Given the description of an element on the screen output the (x, y) to click on. 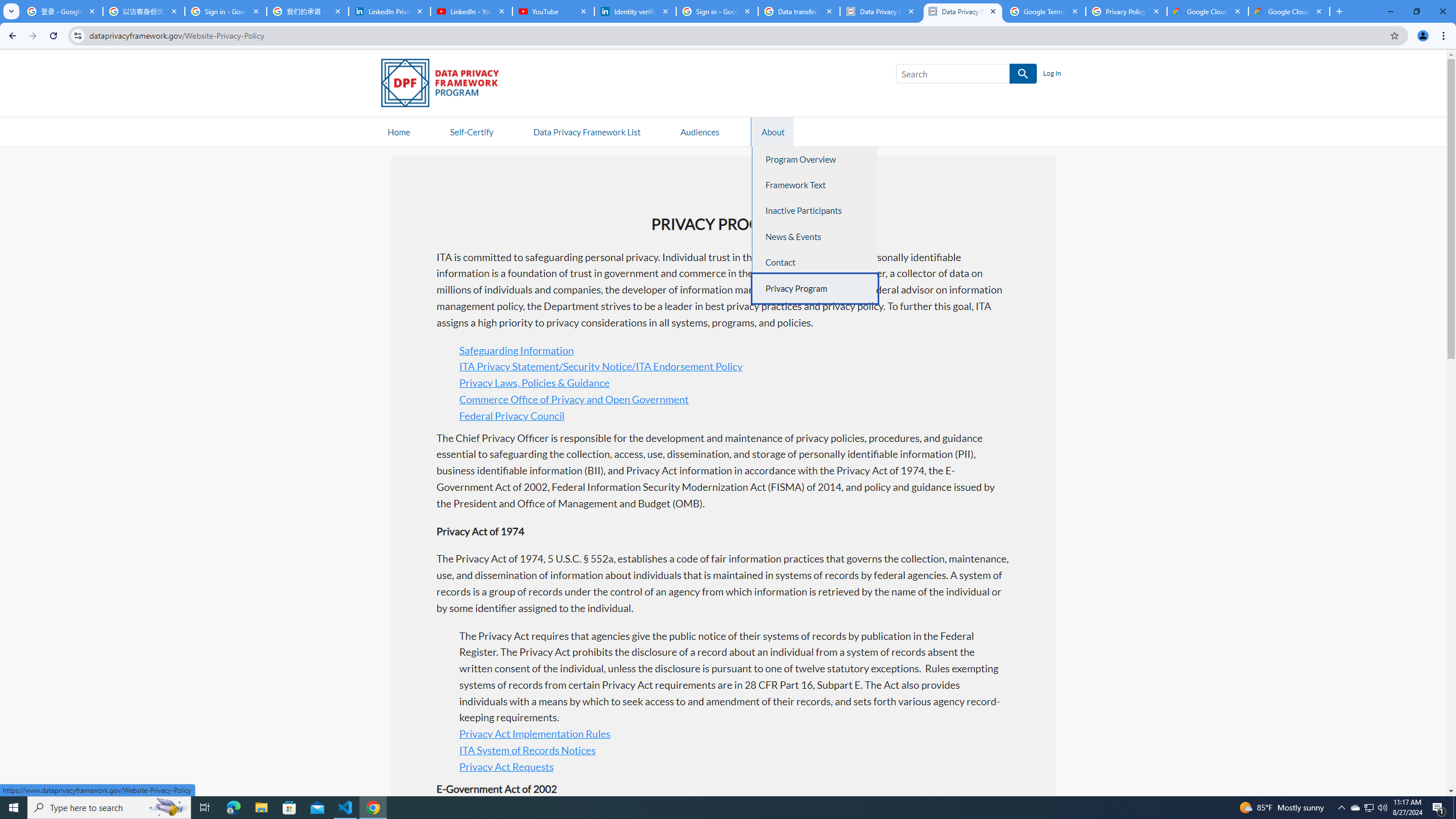
Commerce Office of Privacy and Open Government (573, 398)
Audiences (699, 131)
Data Privacy Framework List (586, 131)
LinkedIn - YouTube (470, 11)
Google Cloud Privacy Notice (1289, 11)
Safeguarding Information (515, 349)
Sign in - Google Accounts (225, 11)
